Given the description of an element on the screen output the (x, y) to click on. 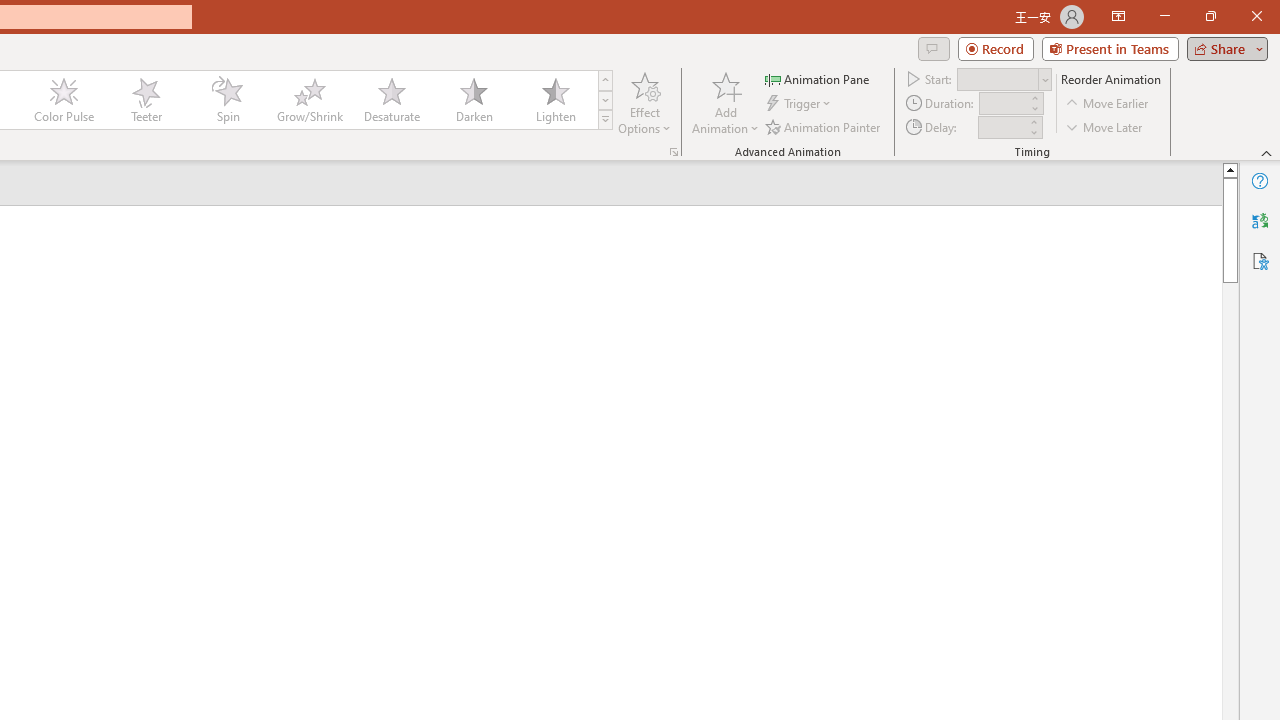
Animation Styles (605, 120)
Open (1044, 79)
Animation Painter (824, 126)
Ribbon Display Options (1118, 16)
Spin (227, 100)
Row up (605, 79)
Animation Pane (818, 78)
Effect Options (644, 102)
